Given the description of an element on the screen output the (x, y) to click on. 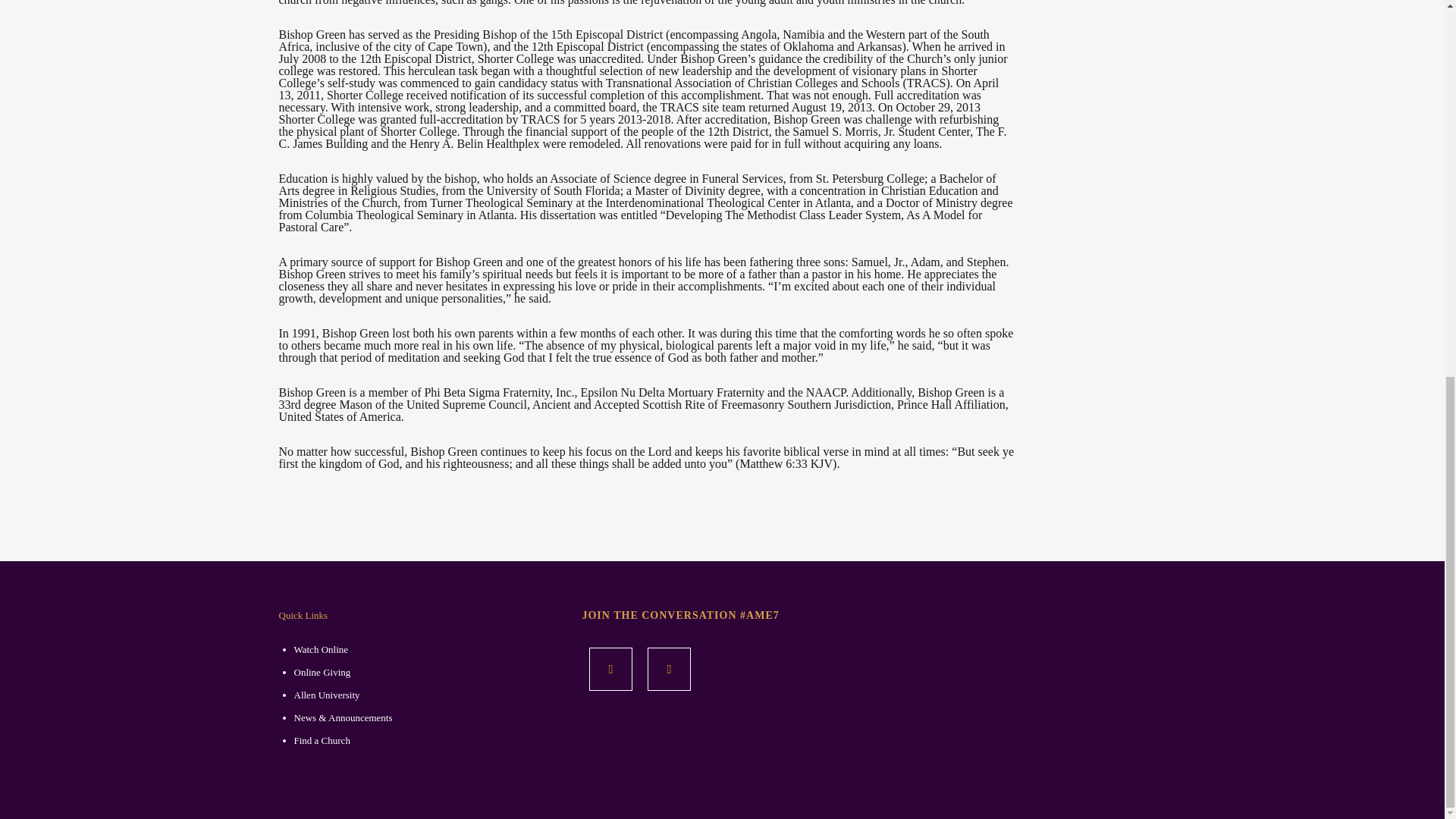
Allen University (326, 695)
Online Giving (322, 672)
Find a Church (322, 740)
Watch Online (321, 649)
